Given the description of an element on the screen output the (x, y) to click on. 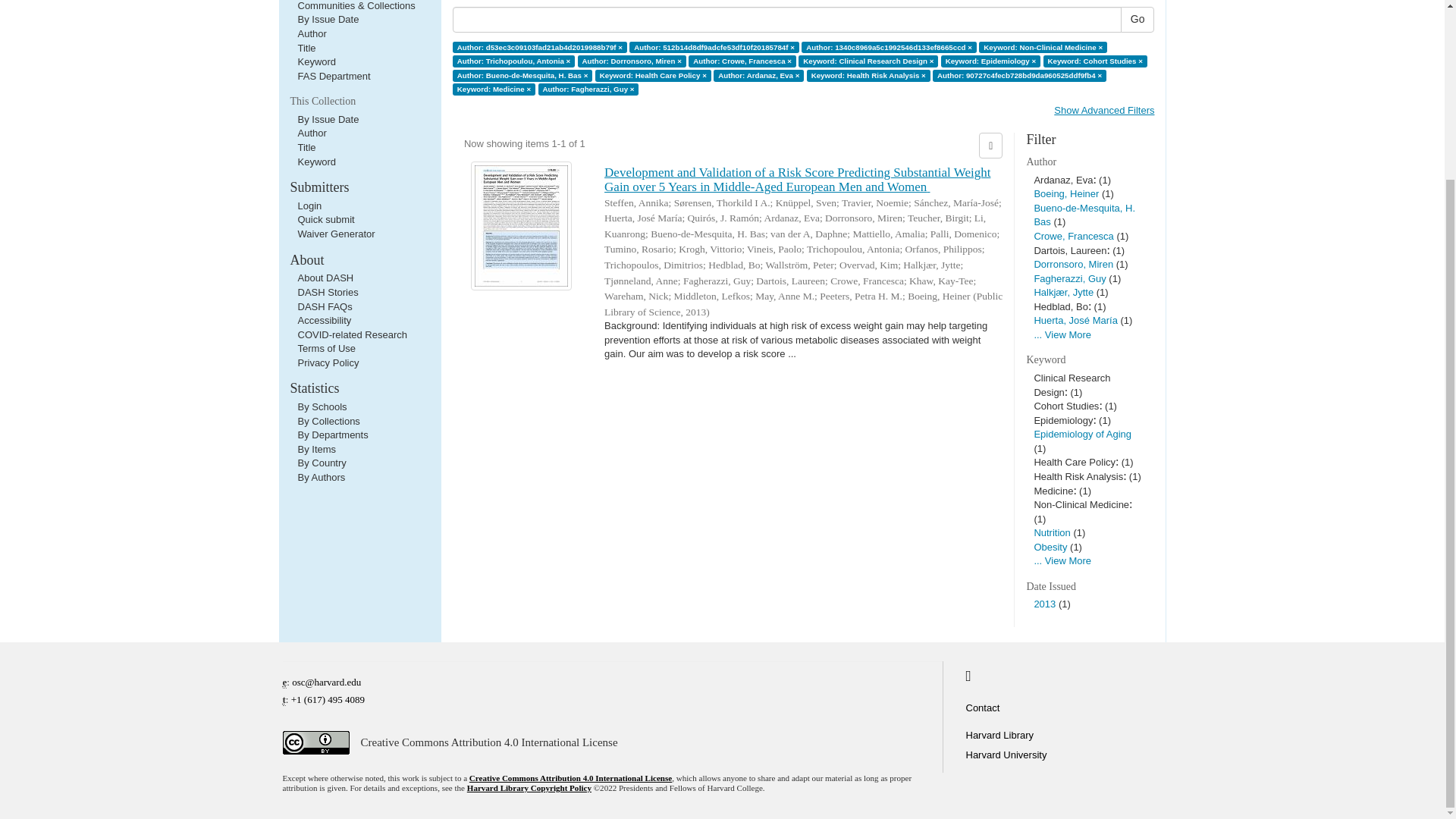
Quick submit (325, 219)
Author (311, 33)
FAS Department (333, 75)
Login (309, 205)
Waiver Generator (335, 233)
By Issue Date (327, 19)
By Issue Date (327, 119)
Keyword (316, 161)
Title (306, 48)
Keyword (316, 61)
Title (306, 147)
Author (311, 132)
